Given the description of an element on the screen output the (x, y) to click on. 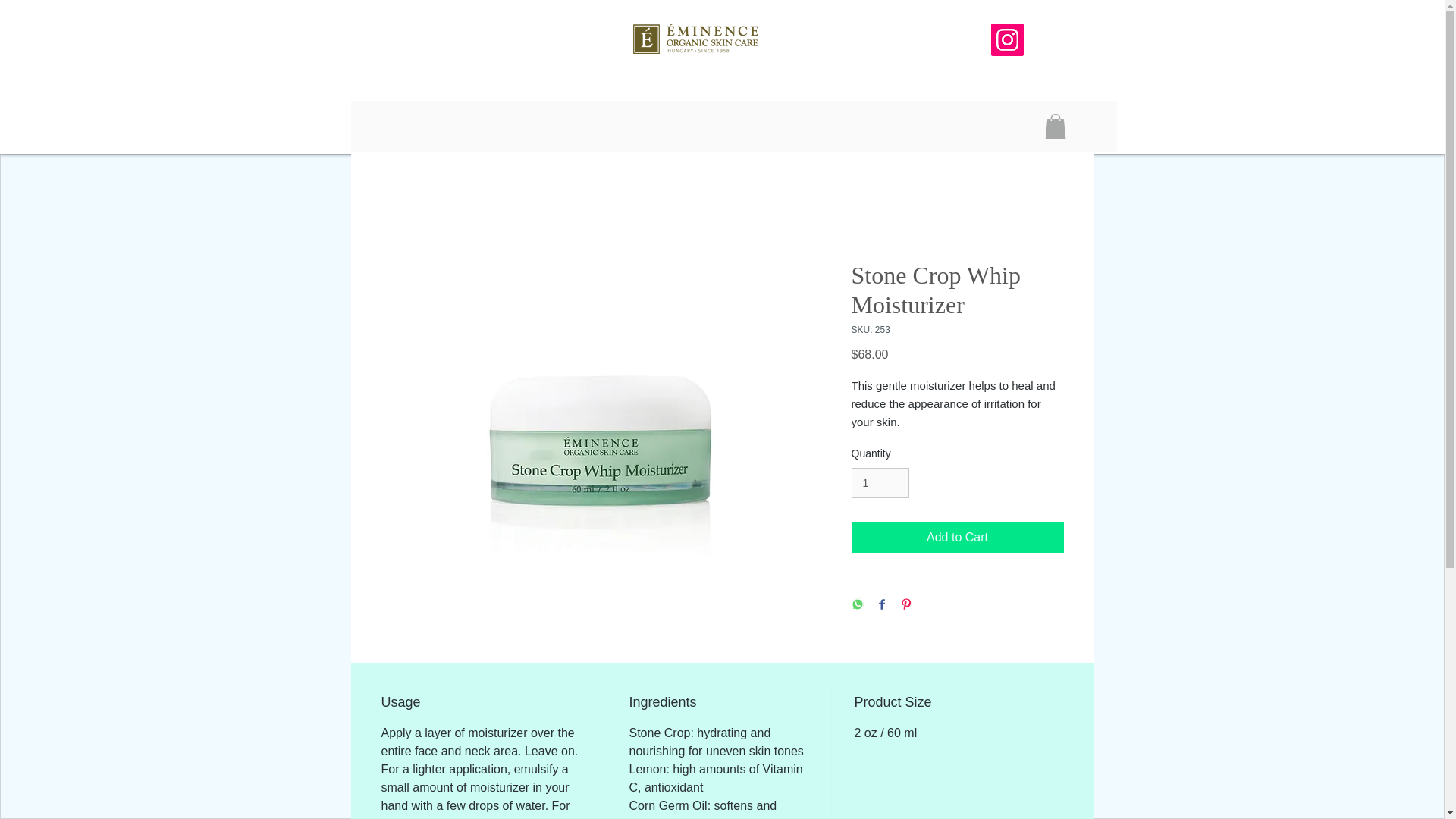
Add to Cart (956, 537)
1 (879, 482)
